Given the description of an element on the screen output the (x, y) to click on. 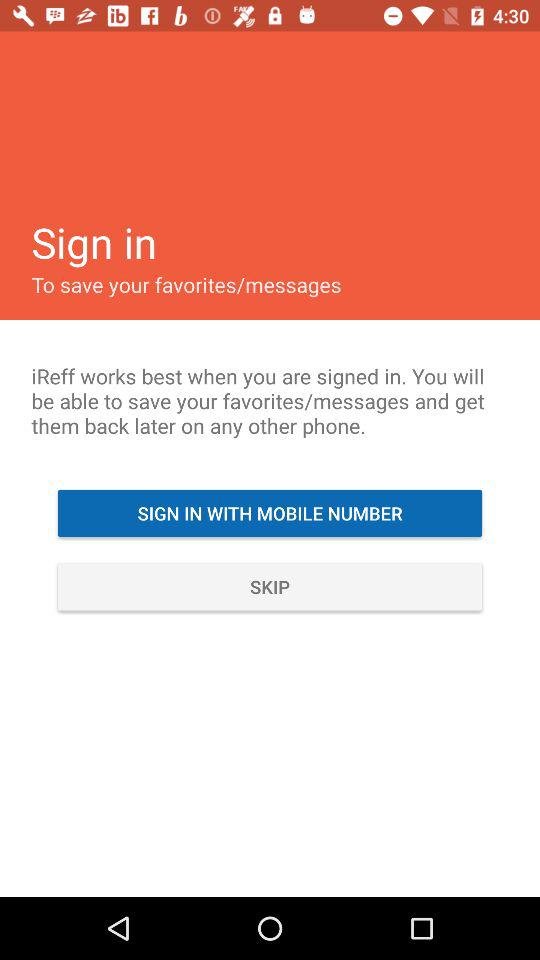
select item below the sign in with item (269, 586)
